Given the description of an element on the screen output the (x, y) to click on. 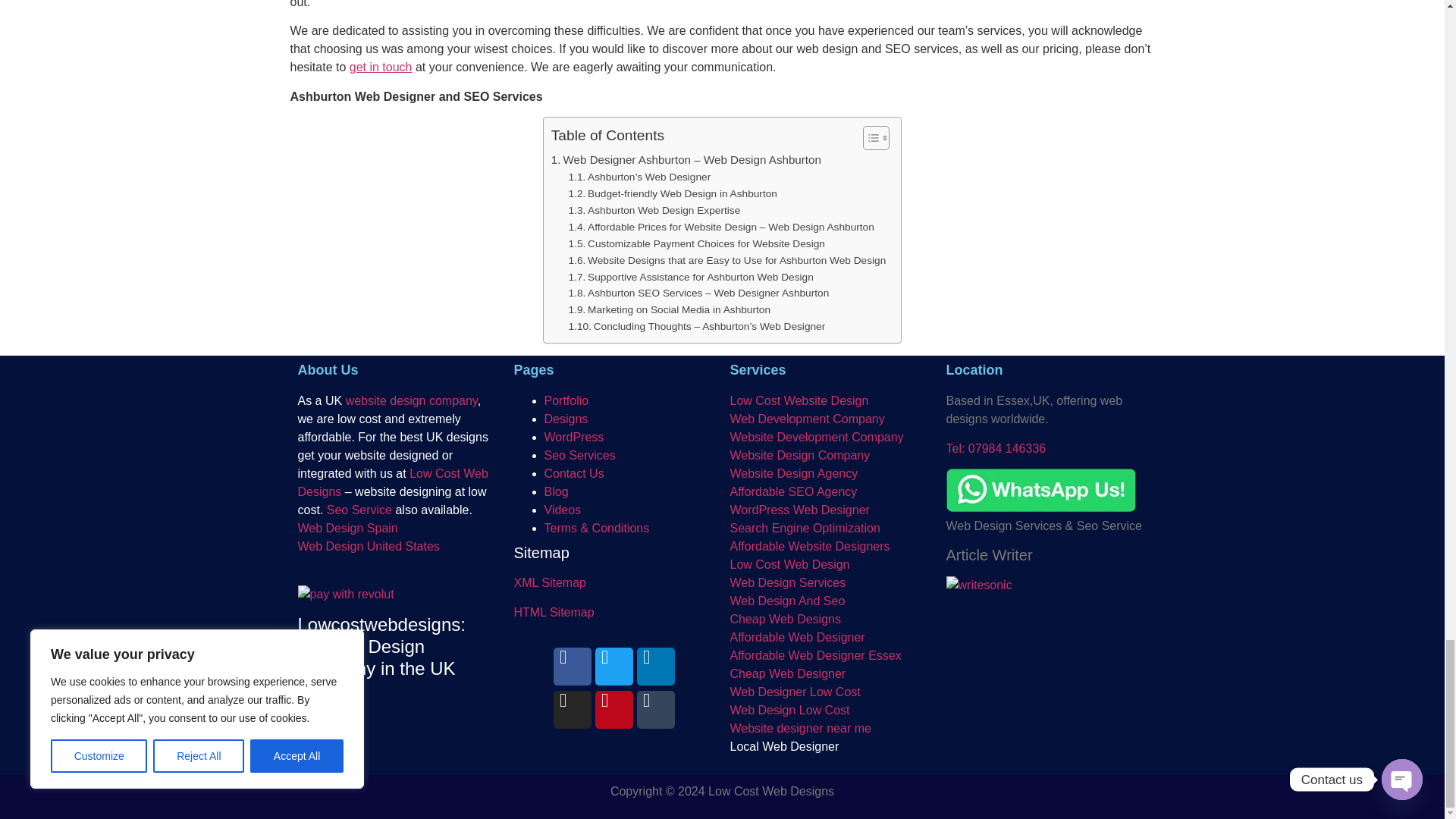
Budget-friendly Web Design in Ashburton (673, 193)
Customizable Payment Choices for Website Design (697, 243)
Supportive Assistance for Ashburton Web Design (691, 277)
Ashburton Web Design Expertise (655, 210)
